Given the description of an element on the screen output the (x, y) to click on. 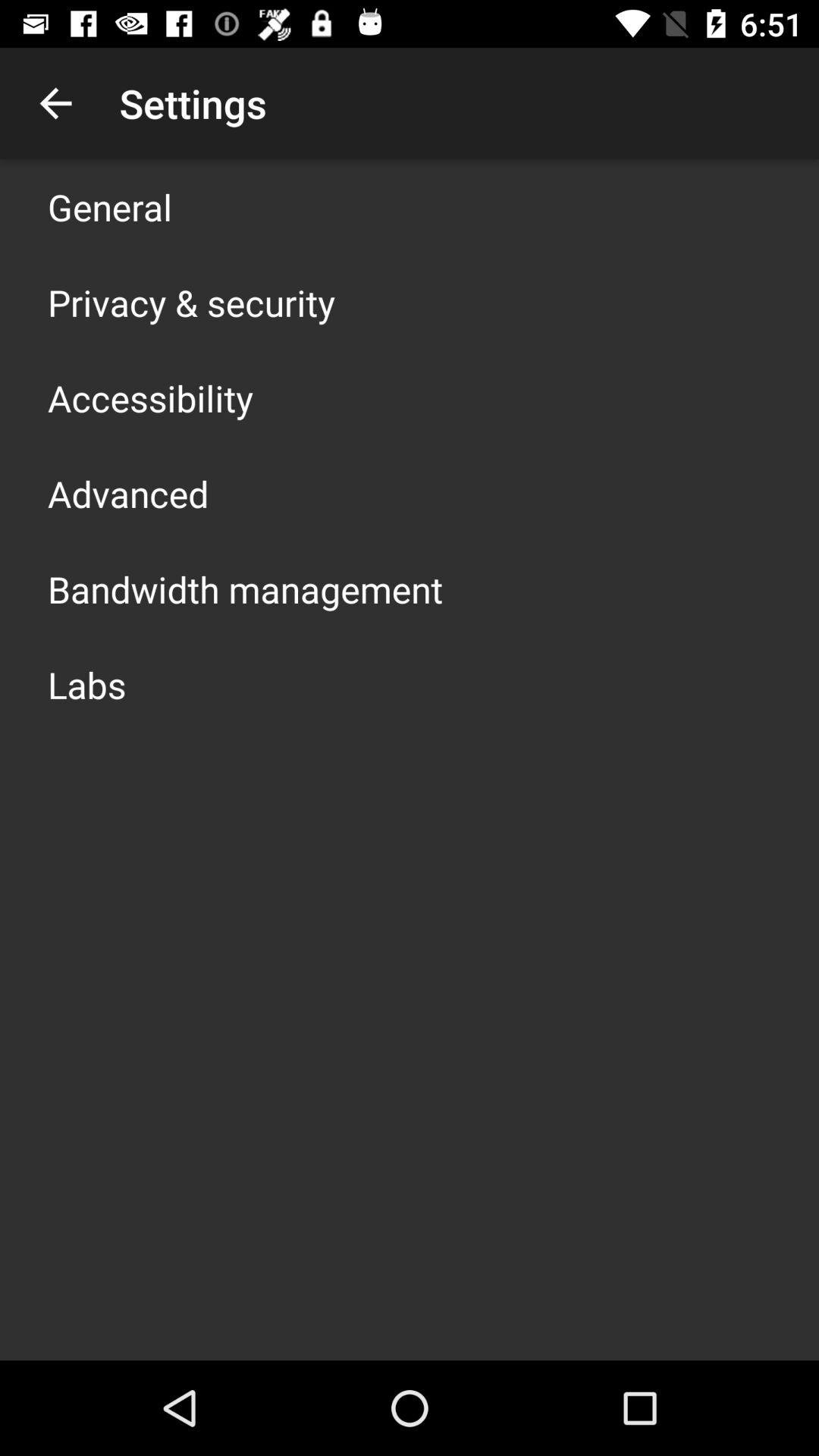
jump until the bandwidth management app (245, 588)
